Given the description of an element on the screen output the (x, y) to click on. 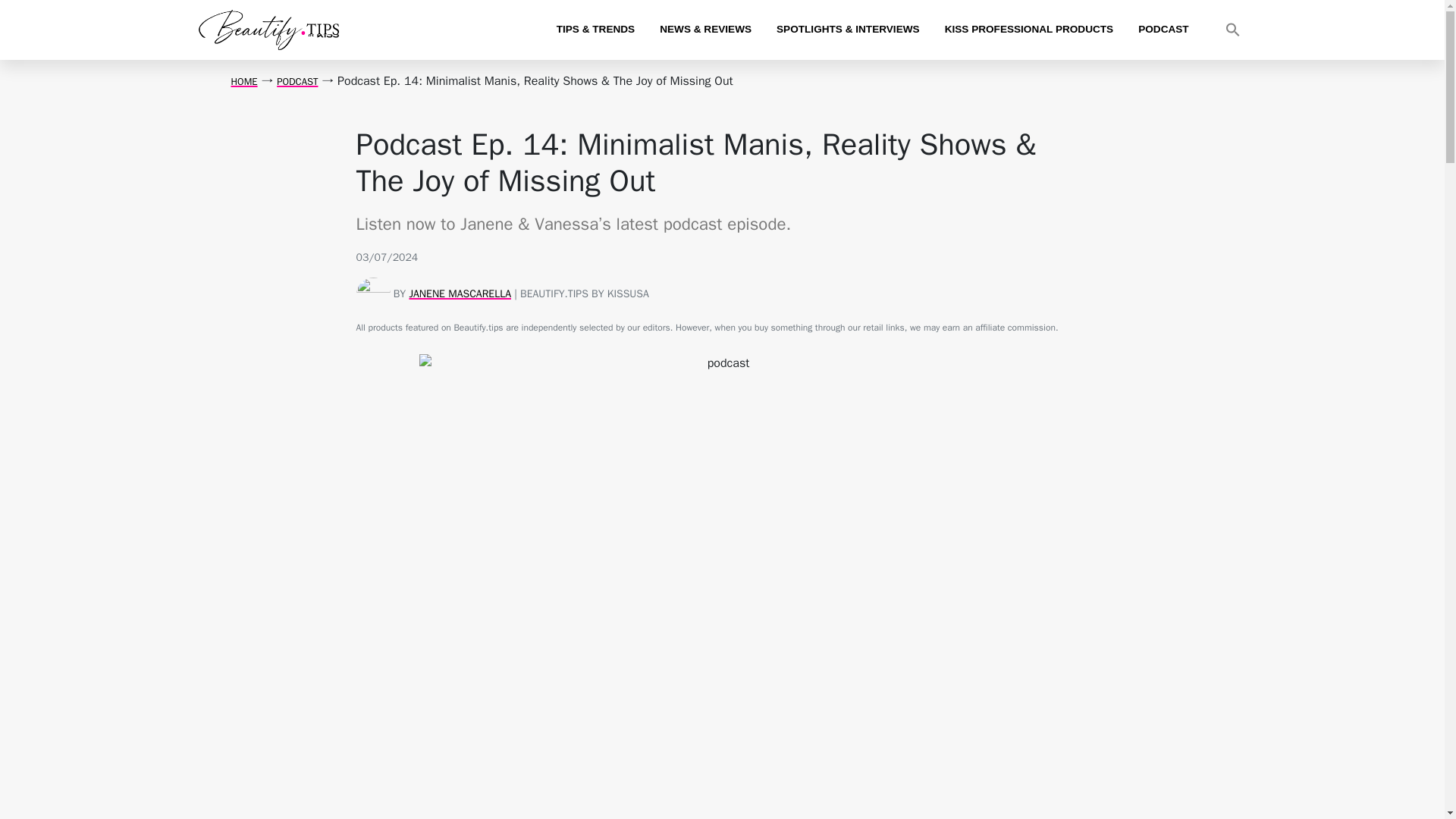
JANENE MASCARELLA (460, 293)
Podcast (296, 81)
PODCAST (1163, 29)
HOME (243, 81)
Home (243, 81)
KISS PROFESSIONAL PRODUCTS (1029, 29)
PODCAST (296, 81)
